Given the description of an element on the screen output the (x, y) to click on. 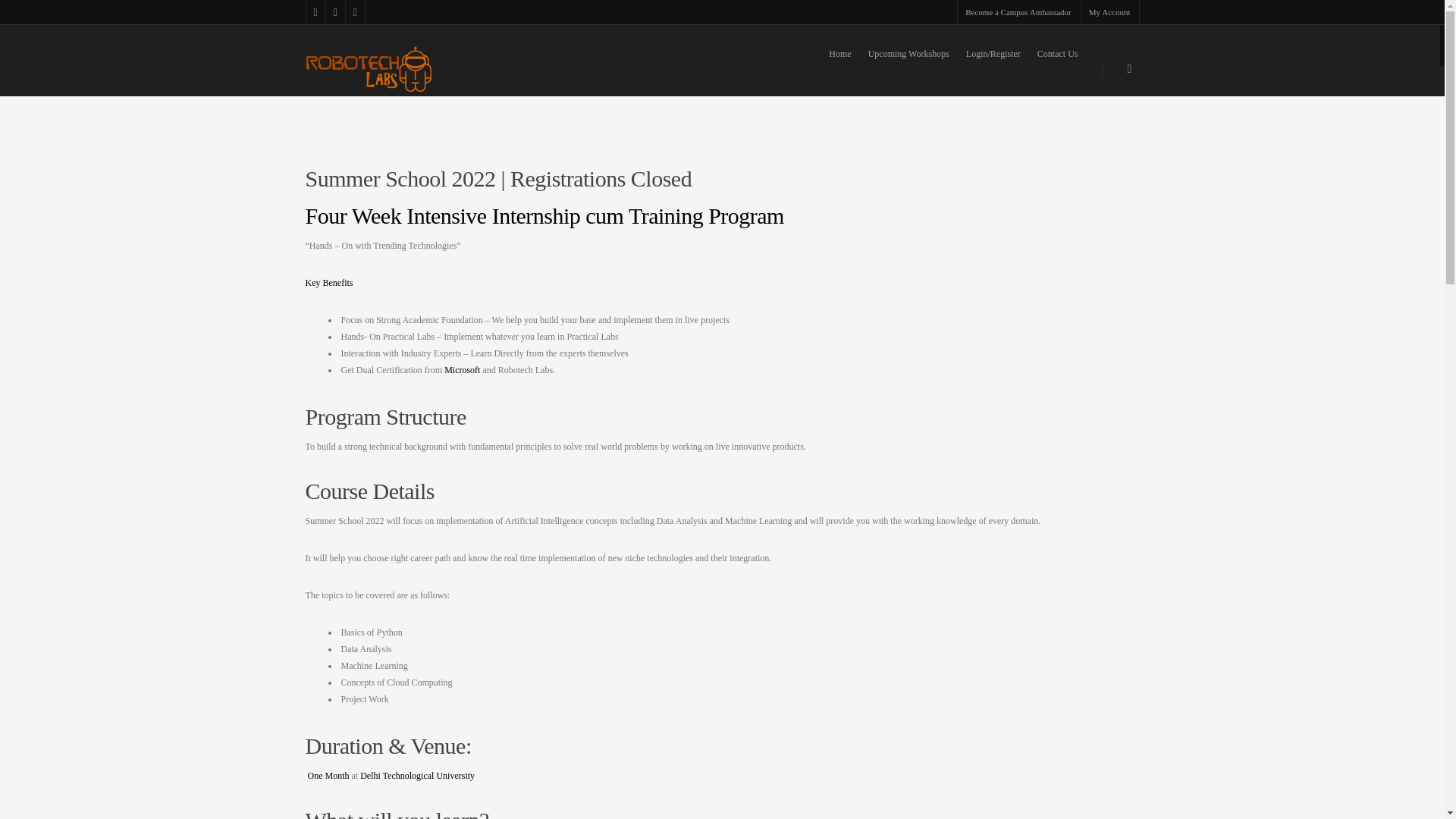
Contact Us (1057, 70)
My Account (1109, 12)
Upcoming Workshops (908, 70)
Become a Campus Ambassador (1017, 12)
